Given the description of an element on the screen output the (x, y) to click on. 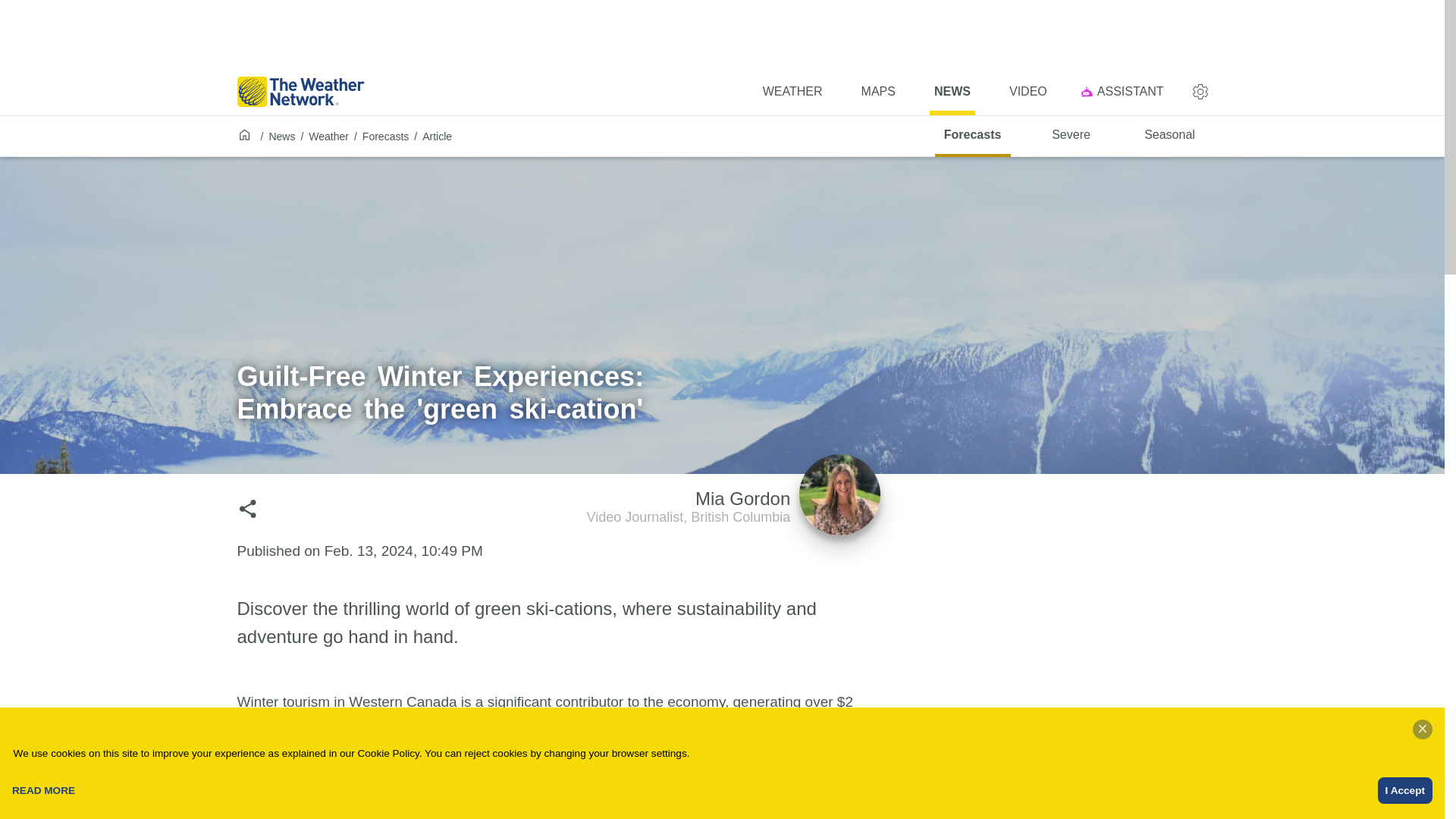
Seasonal (1169, 136)
News (281, 136)
Forecasts (972, 136)
ASSISTANT (733, 509)
MAPS (1125, 91)
Forecasts (878, 91)
NEWS (385, 136)
Weather (952, 91)
Severe (328, 136)
3rd party ad content (1071, 136)
VIDEO (721, 33)
WEATHER (1027, 91)
3rd party ad content (792, 91)
